Given the description of an element on the screen output the (x, y) to click on. 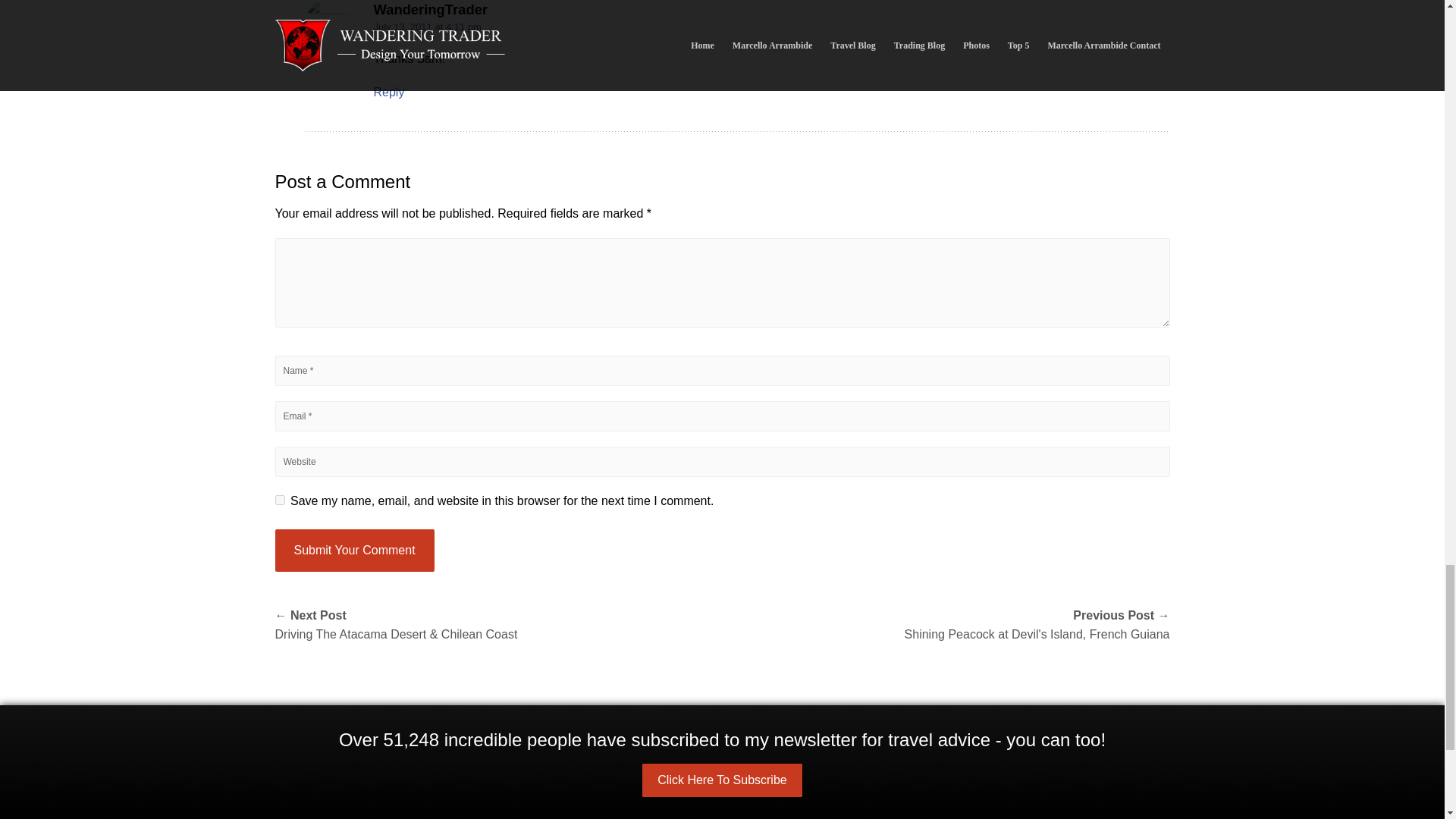
Click Here To Subscribe (722, 779)
WanderingTrader (429, 9)
Submit Your Comment (354, 550)
yes (279, 500)
July 13, 2011 at 4:11 pm (426, 26)
Submit Your Comment (354, 550)
Shining Peacock at Devil's Island, French Guiana (945, 625)
Reply (388, 91)
